Given the description of an element on the screen output the (x, y) to click on. 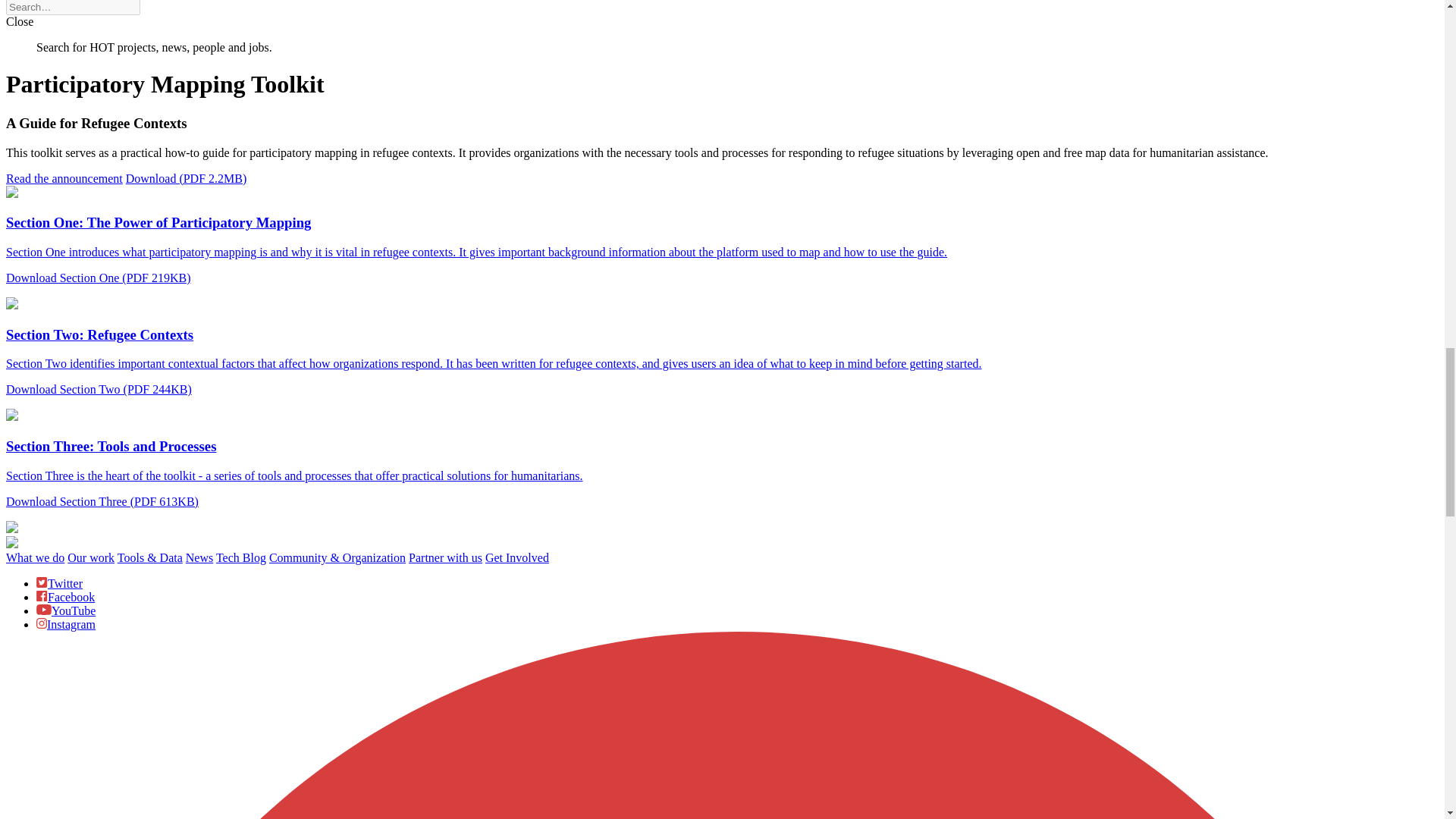
Facebook (65, 596)
News (199, 557)
What we do (34, 557)
Our work (90, 557)
Partner with us (445, 557)
Instagram (66, 624)
Twitter (59, 583)
Get Involved (516, 557)
Read the announcement (63, 178)
YouTube (66, 610)
